Given the description of an element on the screen output the (x, y) to click on. 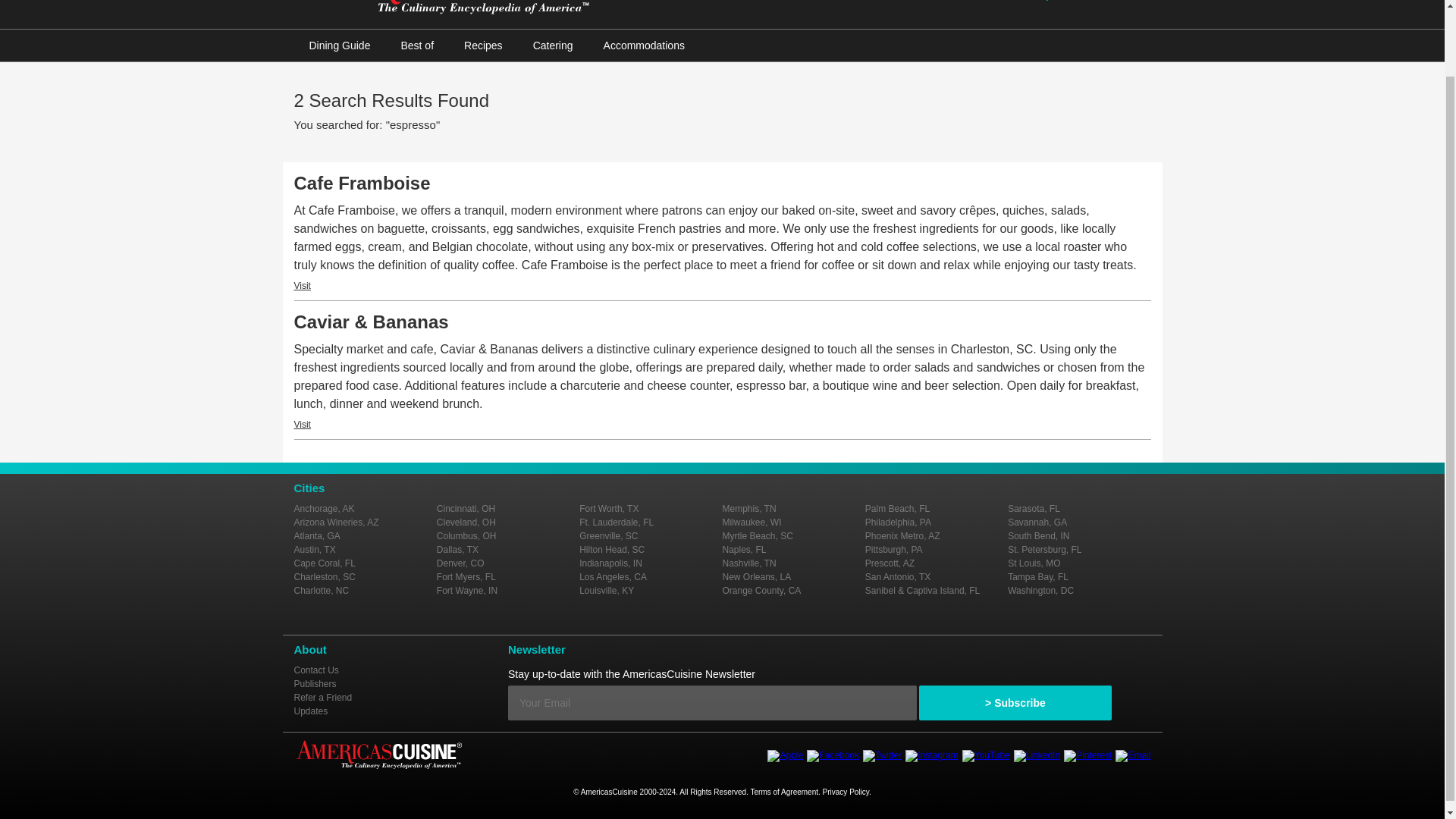
Charlotte, NC (321, 590)
Dallas, TX (457, 549)
Anchorage, AK (324, 508)
Cincinnati, OH (465, 508)
Louisville, KY (606, 590)
Dining Guide (339, 45)
Catering (553, 45)
Visit (302, 285)
Naples, FL (743, 549)
Best of (416, 45)
Cape Coral, FL (324, 562)
Austin, TX (315, 549)
Los Angeles, CA (612, 576)
Myrtle Beach, SC (757, 535)
